Given the description of an element on the screen output the (x, y) to click on. 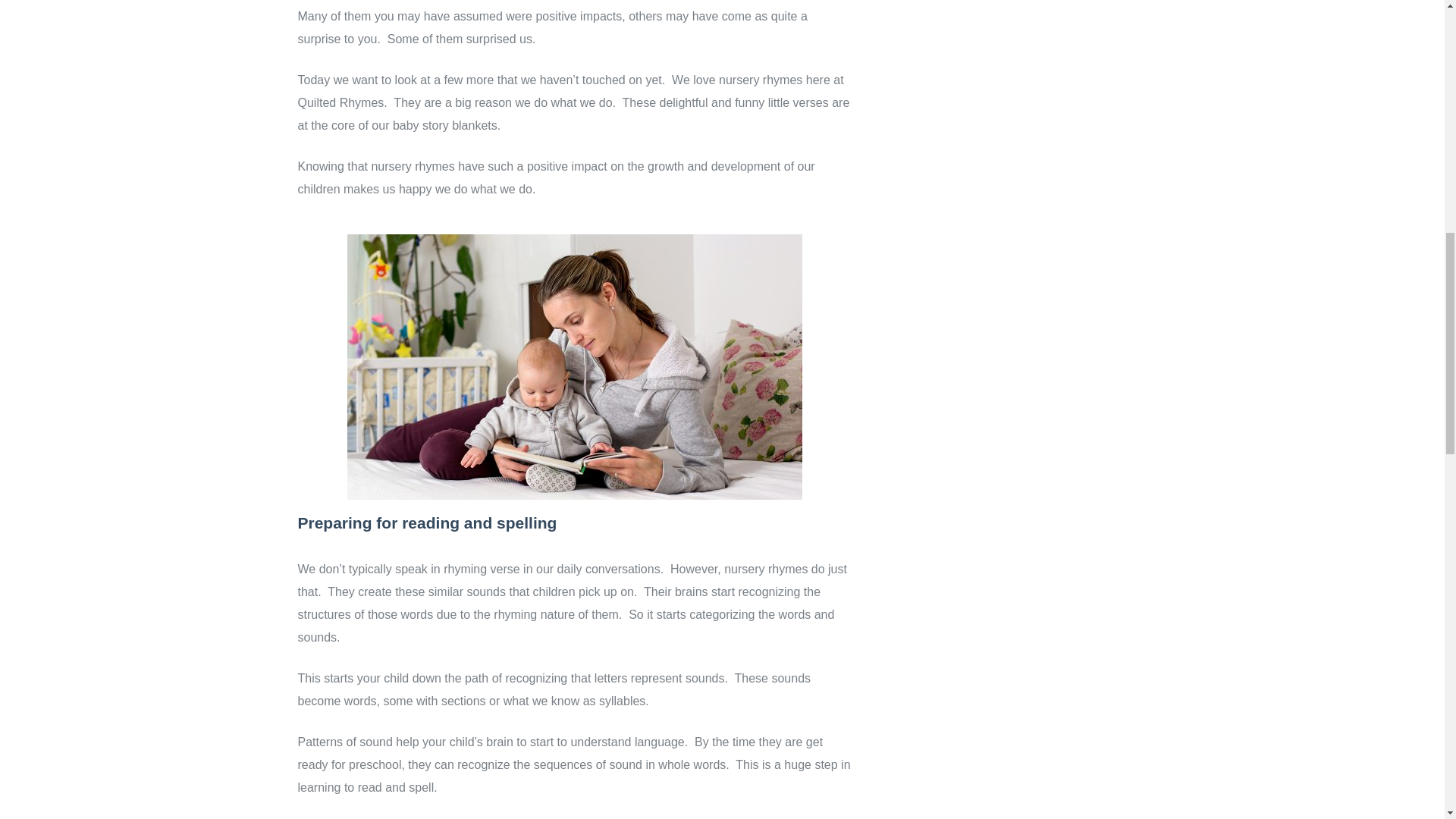
reading-to-baby (574, 366)
